Given the description of an element on the screen output the (x, y) to click on. 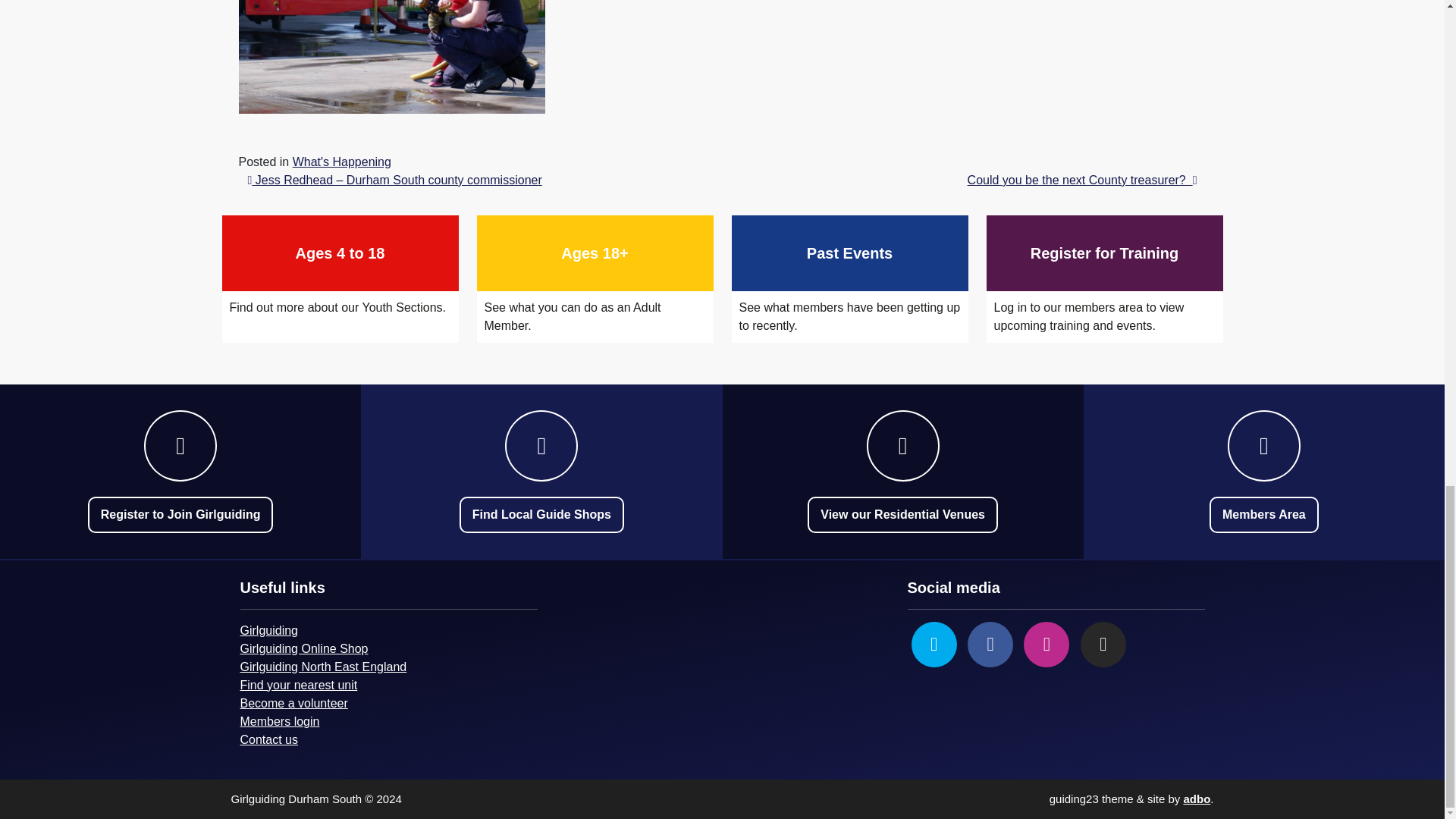
Find Local Guide Shops (542, 514)
View our Residential Venues (902, 514)
What's Happening (339, 279)
Could you be the next County treasurer?   (341, 161)
Register to Join Girlguiding (1082, 179)
